Given the description of an element on the screen output the (x, y) to click on. 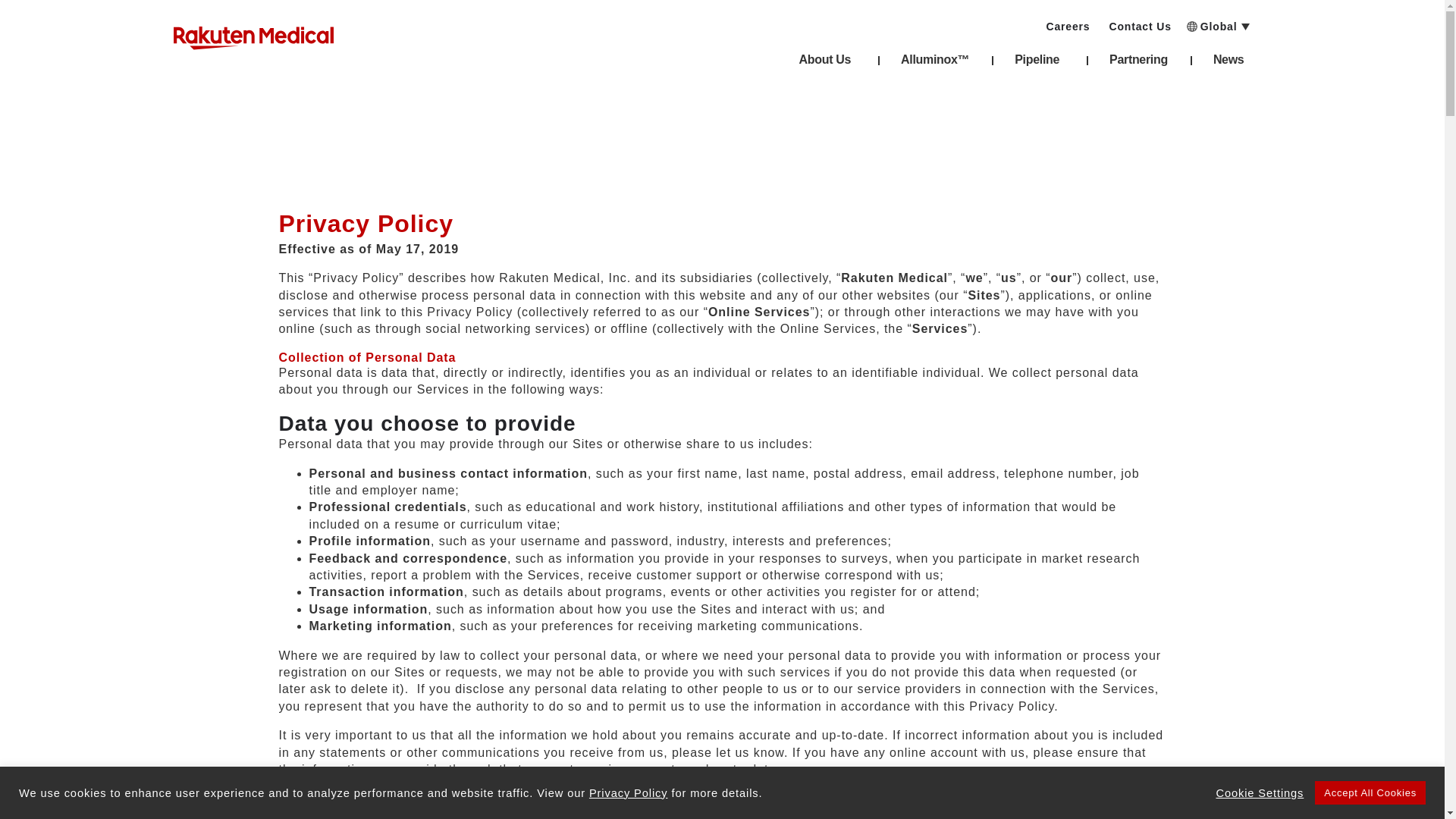
Partnering (1138, 63)
Pipeline (1038, 63)
Global (1227, 21)
Careers (1067, 21)
News (1231, 63)
Contact Us (1139, 21)
About Us (827, 63)
